Given the description of an element on the screen output the (x, y) to click on. 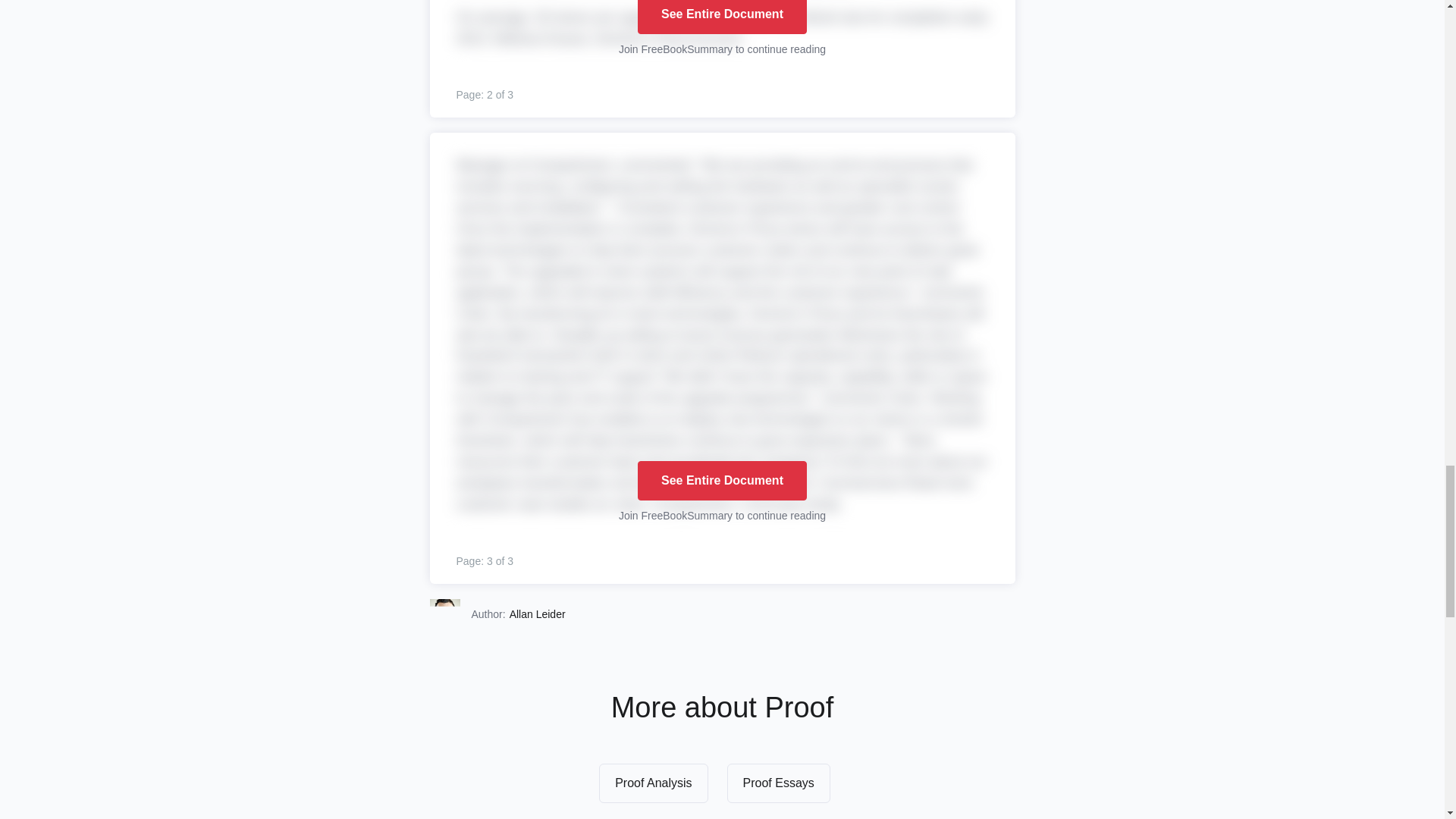
Proof Essays (777, 783)
Proof Analysis (652, 783)
